Given the description of an element on the screen output the (x, y) to click on. 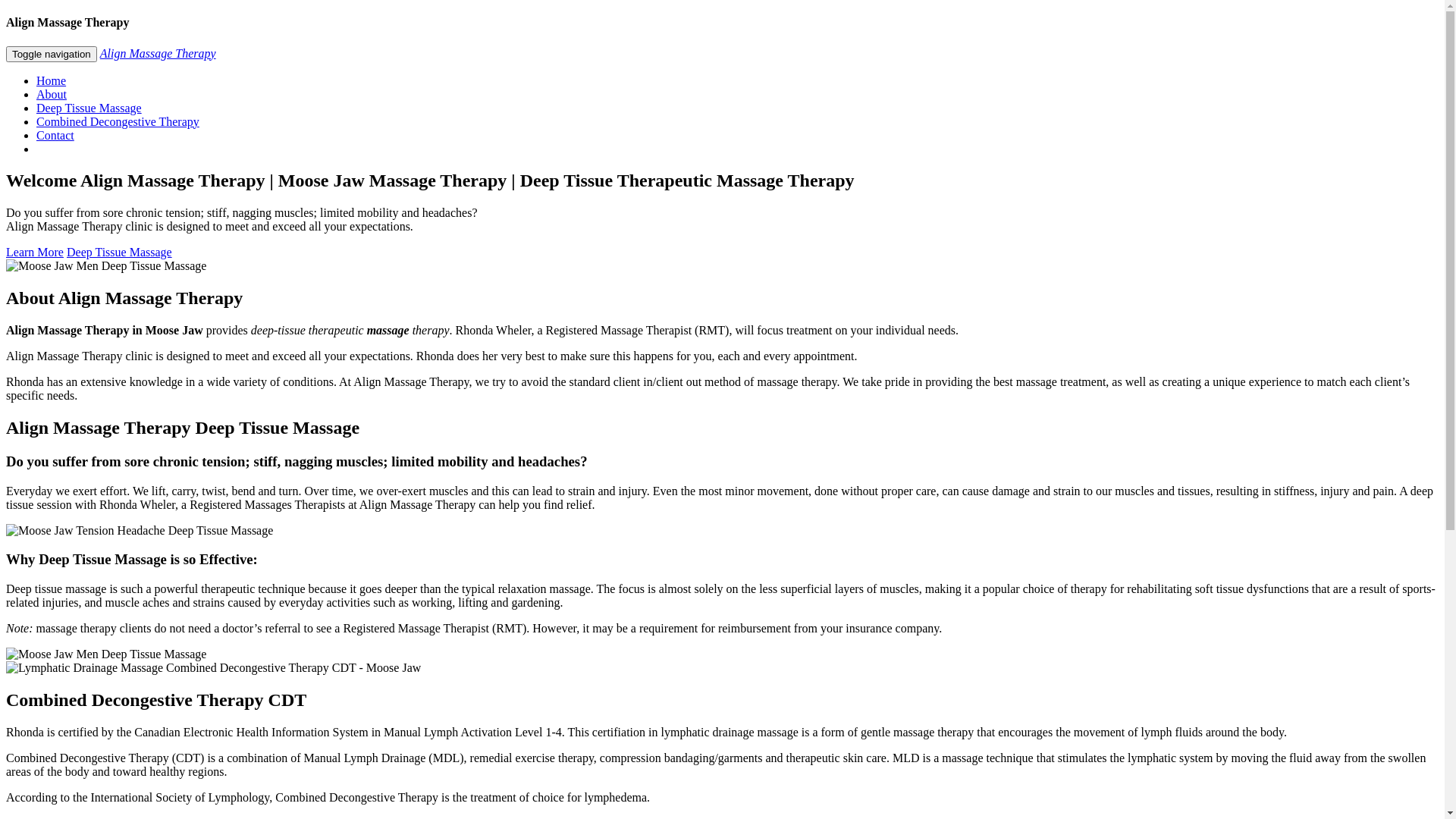
About Element type: text (51, 93)
Toggle navigation Element type: text (51, 54)
Contact Element type: text (55, 134)
Deep Tissue Massage Element type: text (88, 107)
Deep Tissue Massage Element type: text (119, 251)
Home Element type: text (50, 80)
Align Massage Therapy Element type: text (158, 53)
Learn More Element type: text (34, 251)
Combined Decongestive Therapy Element type: text (117, 121)
